Given the description of an element on the screen output the (x, y) to click on. 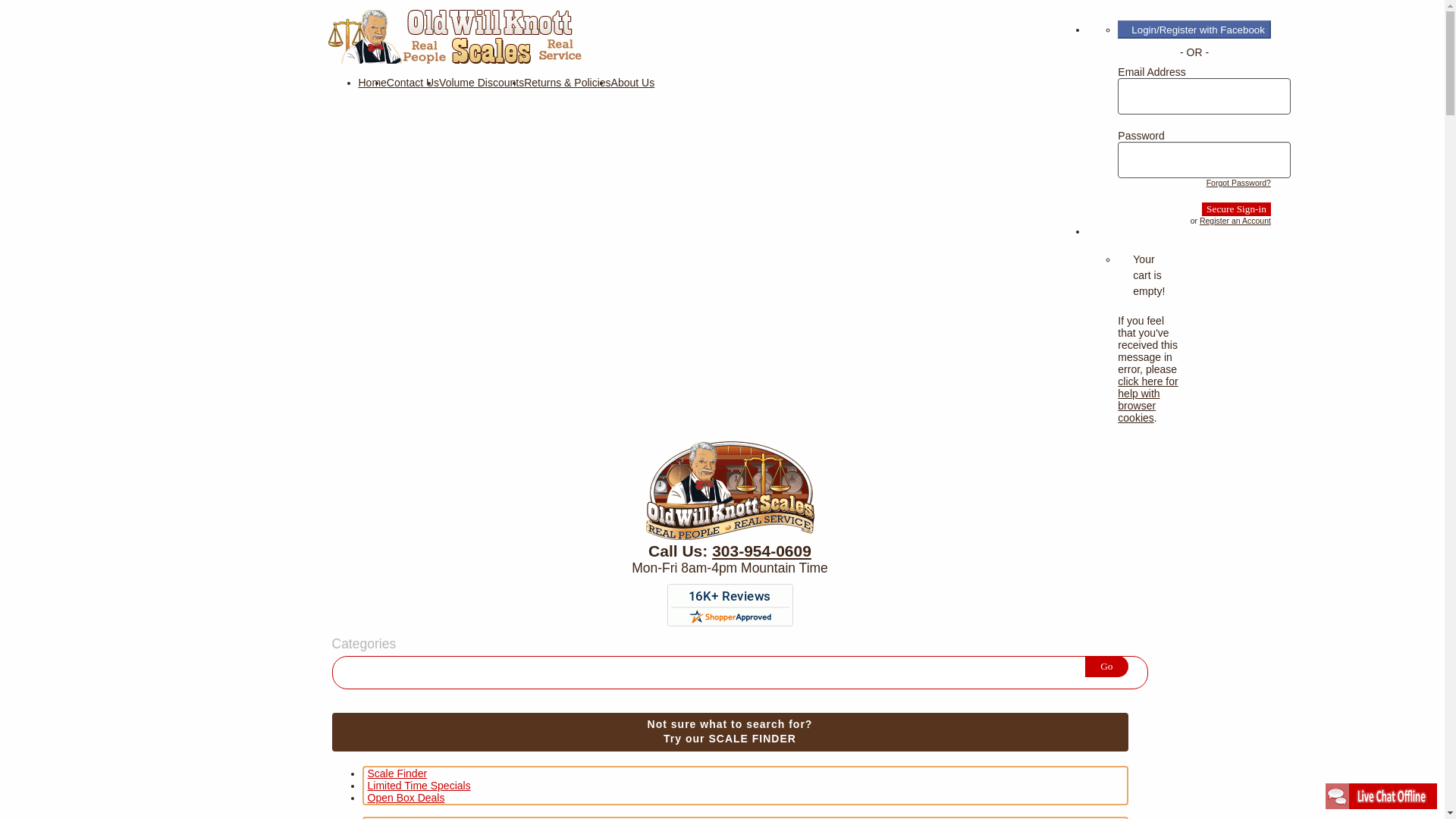
About Us (633, 82)
click here for help with browser cookies (1147, 399)
Forgot Password? (1239, 182)
Volume Discounts (481, 82)
Secure Sign-in (1236, 209)
Home (371, 82)
Scale Finder (396, 773)
Click to see cart contents (1133, 232)
Contact Us (413, 82)
Categories (363, 643)
Open Box Deals (405, 796)
Limited Time Specials (418, 784)
Go (1105, 666)
Go to the homepage (453, 60)
Go to our ''about us'' page (633, 82)
